Given the description of an element on the screen output the (x, y) to click on. 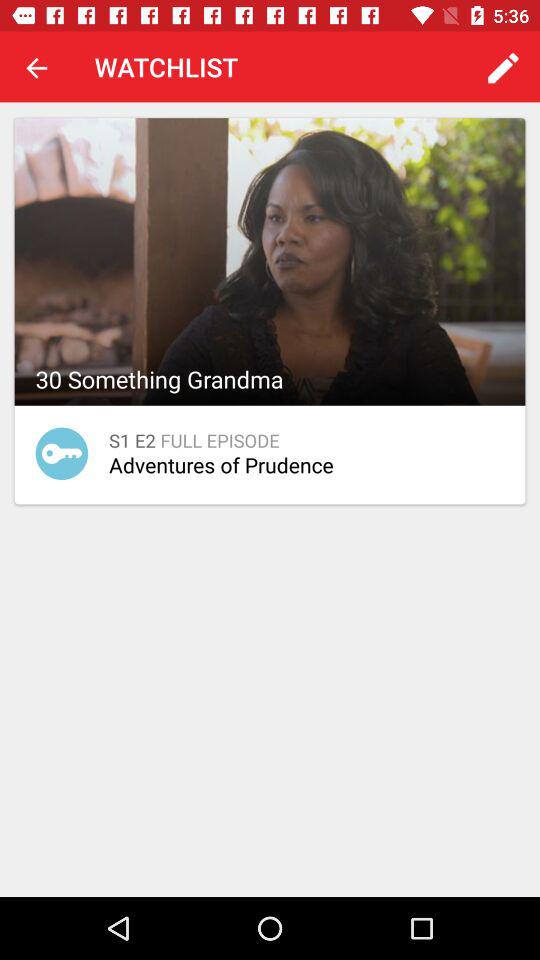
choose the app next to watchlist app (503, 67)
